Given the description of an element on the screen output the (x, y) to click on. 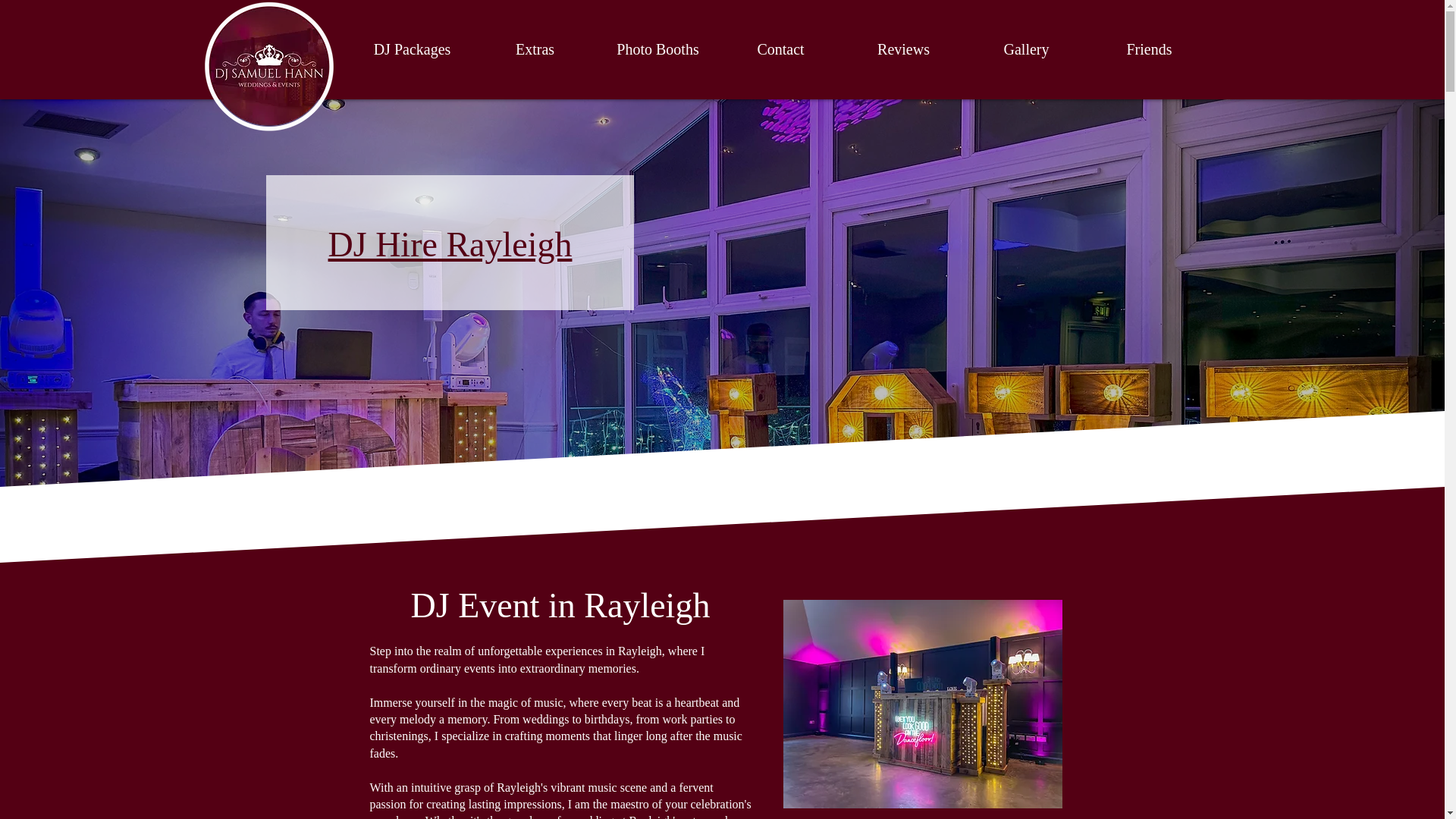
Friends (1148, 48)
Gallery (1025, 48)
Reviews (902, 48)
Contact (780, 48)
